Given the description of an element on the screen output the (x, y) to click on. 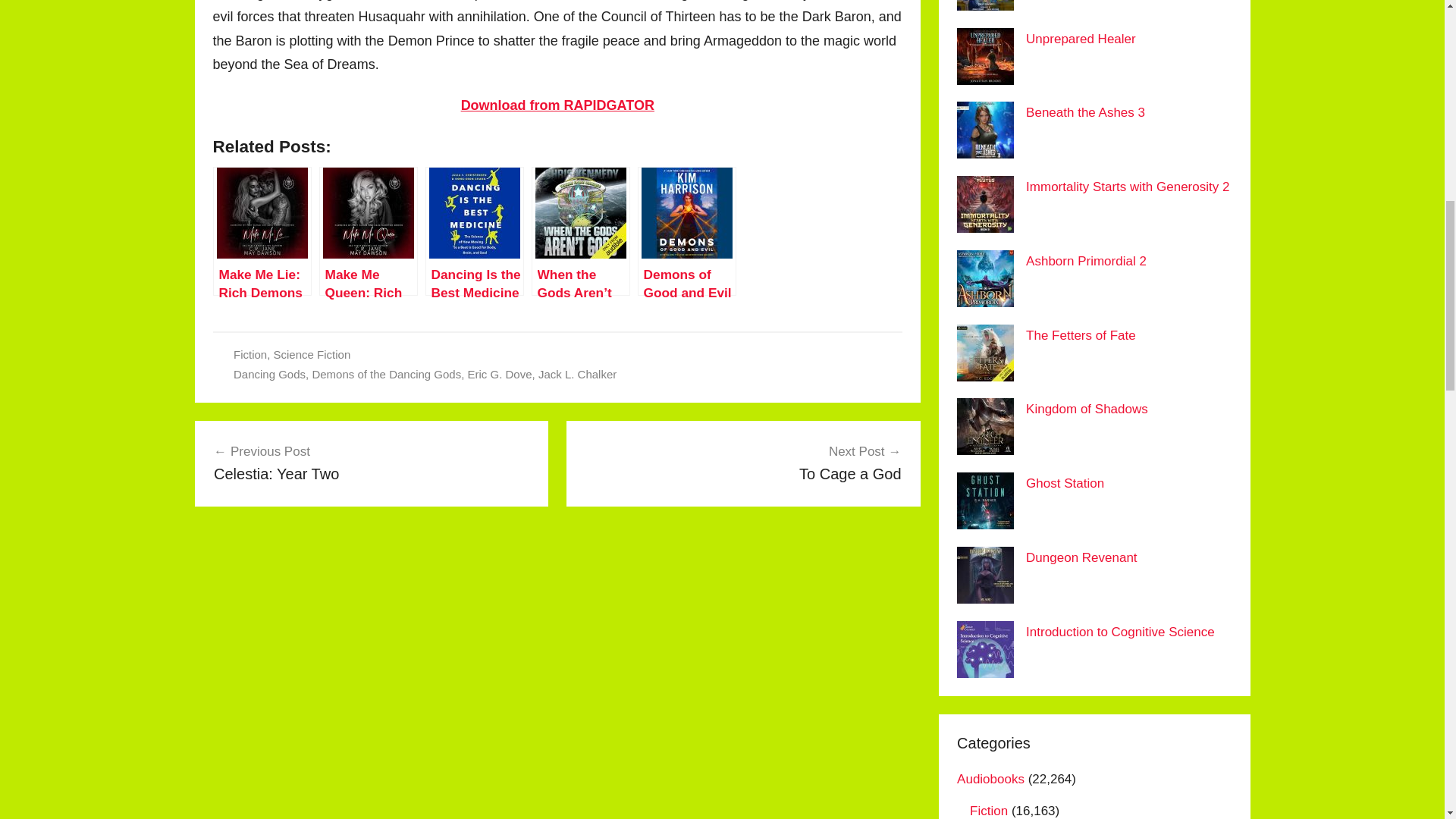
Demons of the Dancing Gods (386, 373)
Beneath the Ashes 3 (1085, 112)
The Fetters of Fate (1080, 335)
Science Fiction (311, 354)
Kingdom of Shadows (371, 462)
Dancing Gods (1087, 409)
Immortality Starts with Generosity 2 (268, 373)
Download from RAPIDGATOR (1127, 186)
Unprepared Healer (743, 462)
Ashborn Primordial 2 (557, 105)
Jack L. Chalker (1080, 38)
Eric G. Dove (1086, 260)
Fiction (576, 373)
